Given the description of an element on the screen output the (x, y) to click on. 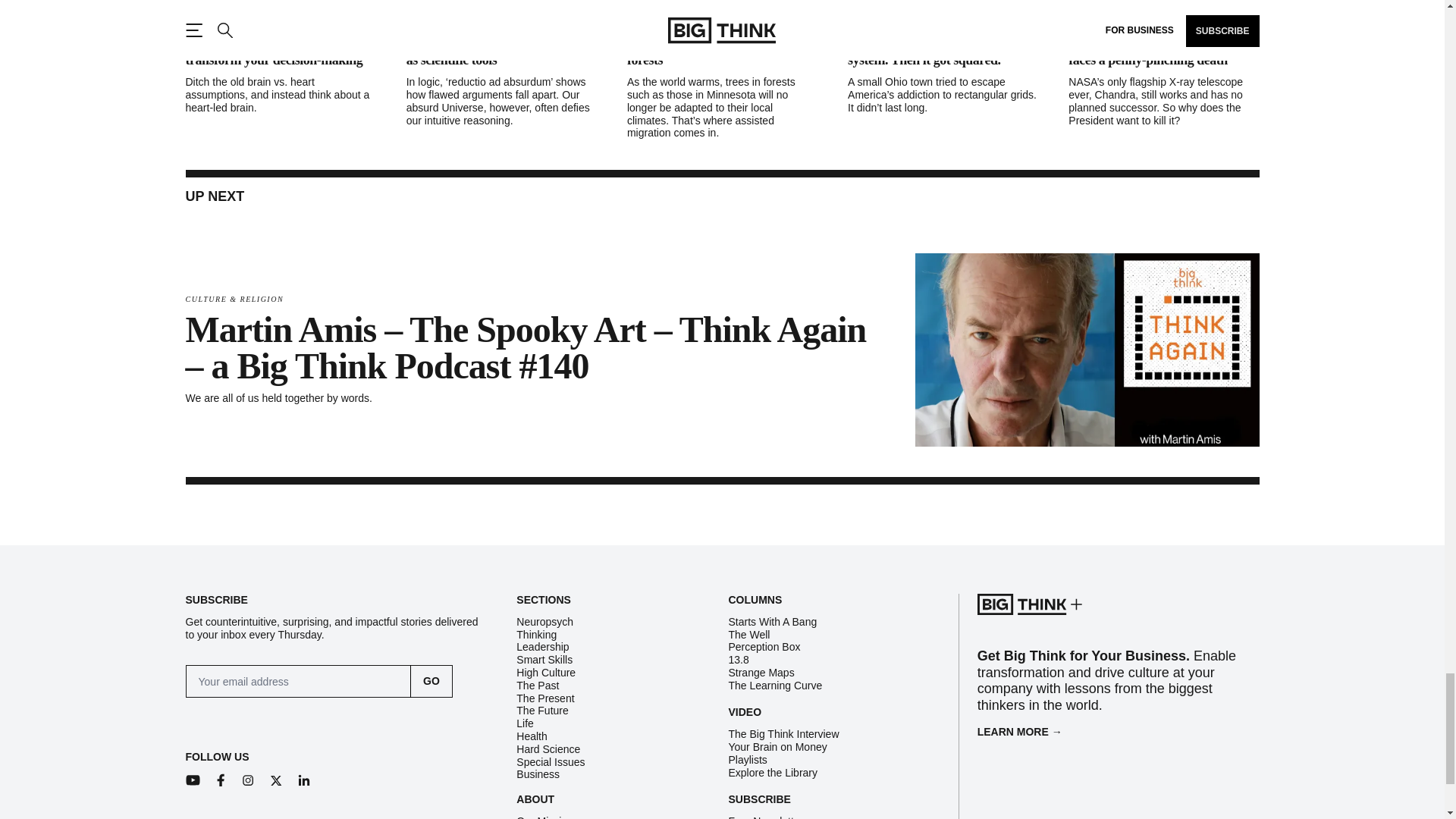
Go (431, 681)
